Given the description of an element on the screen output the (x, y) to click on. 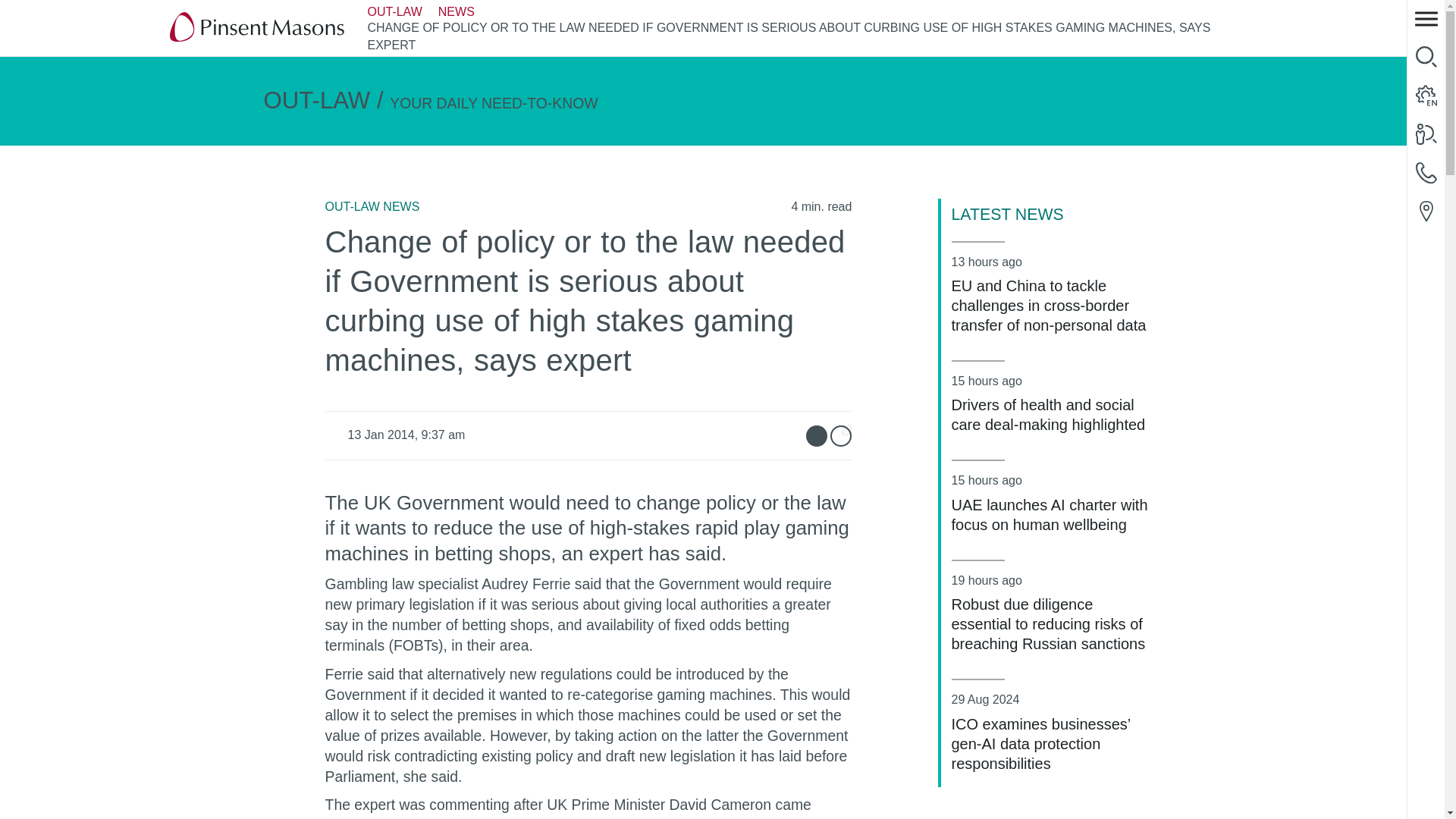
on (846, 429)
OUT-LAW (394, 12)
Email (816, 435)
Pinsent Masons (257, 28)
NEWS (456, 12)
